Given the description of an element on the screen output the (x, y) to click on. 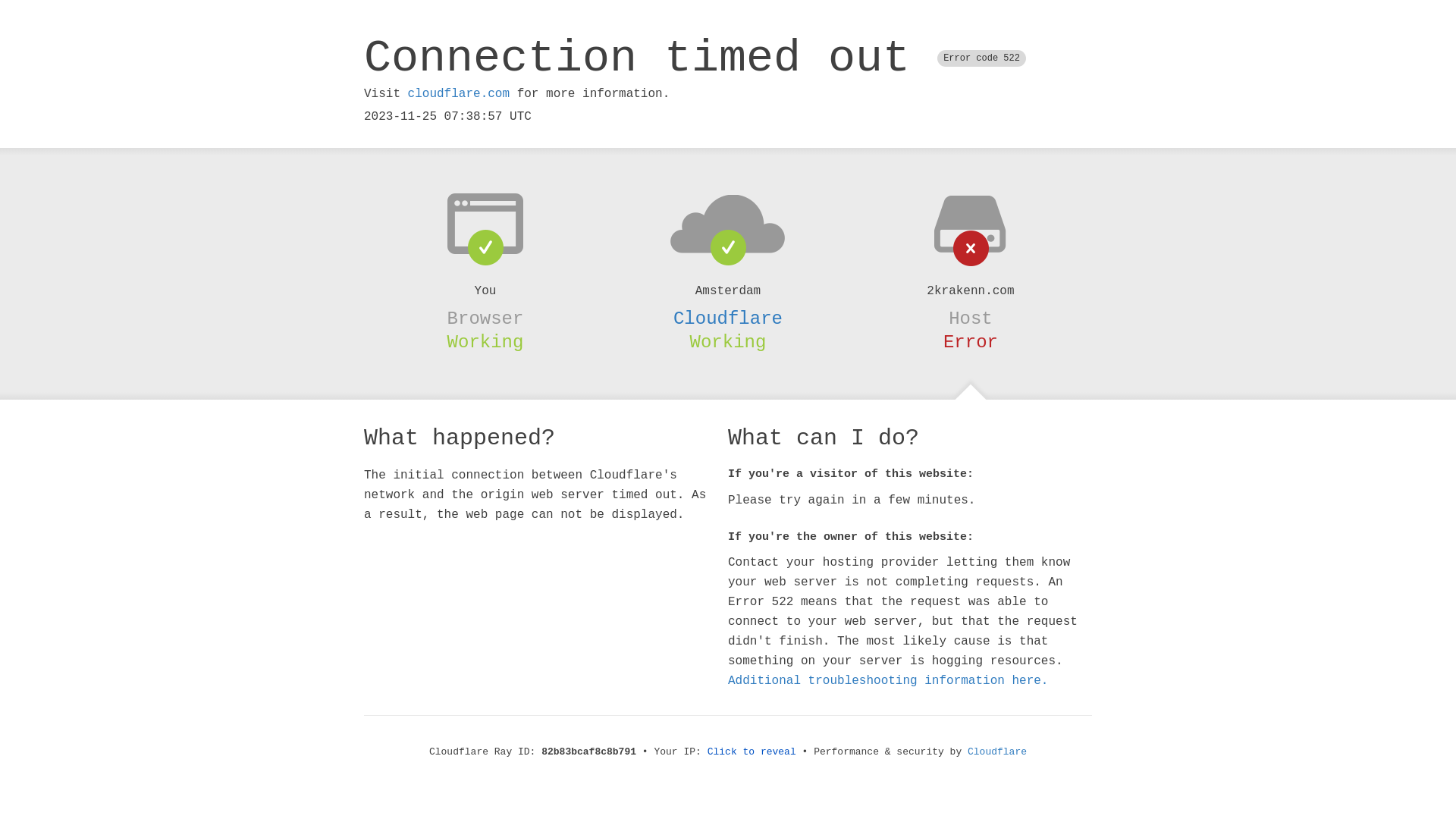
Click to reveal Element type: text (751, 751)
cloudflare.com Element type: text (458, 93)
Cloudflare Element type: text (727, 318)
Additional troubleshooting information here. Element type: text (888, 680)
Cloudflare Element type: text (996, 751)
